Given the description of an element on the screen output the (x, y) to click on. 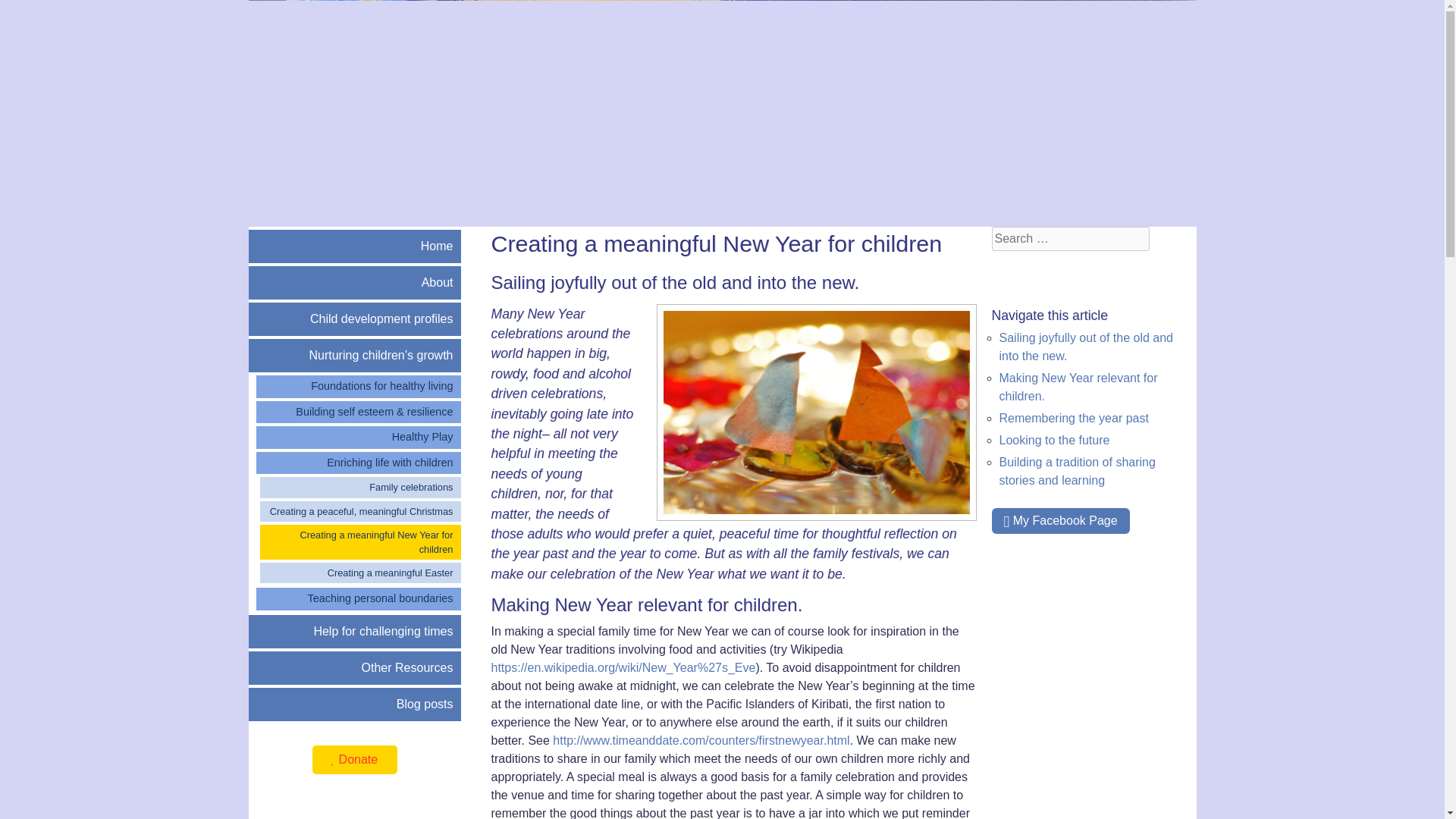
Child development profiles (354, 318)
About (354, 282)
Home (354, 246)
